Given the description of an element on the screen output the (x, y) to click on. 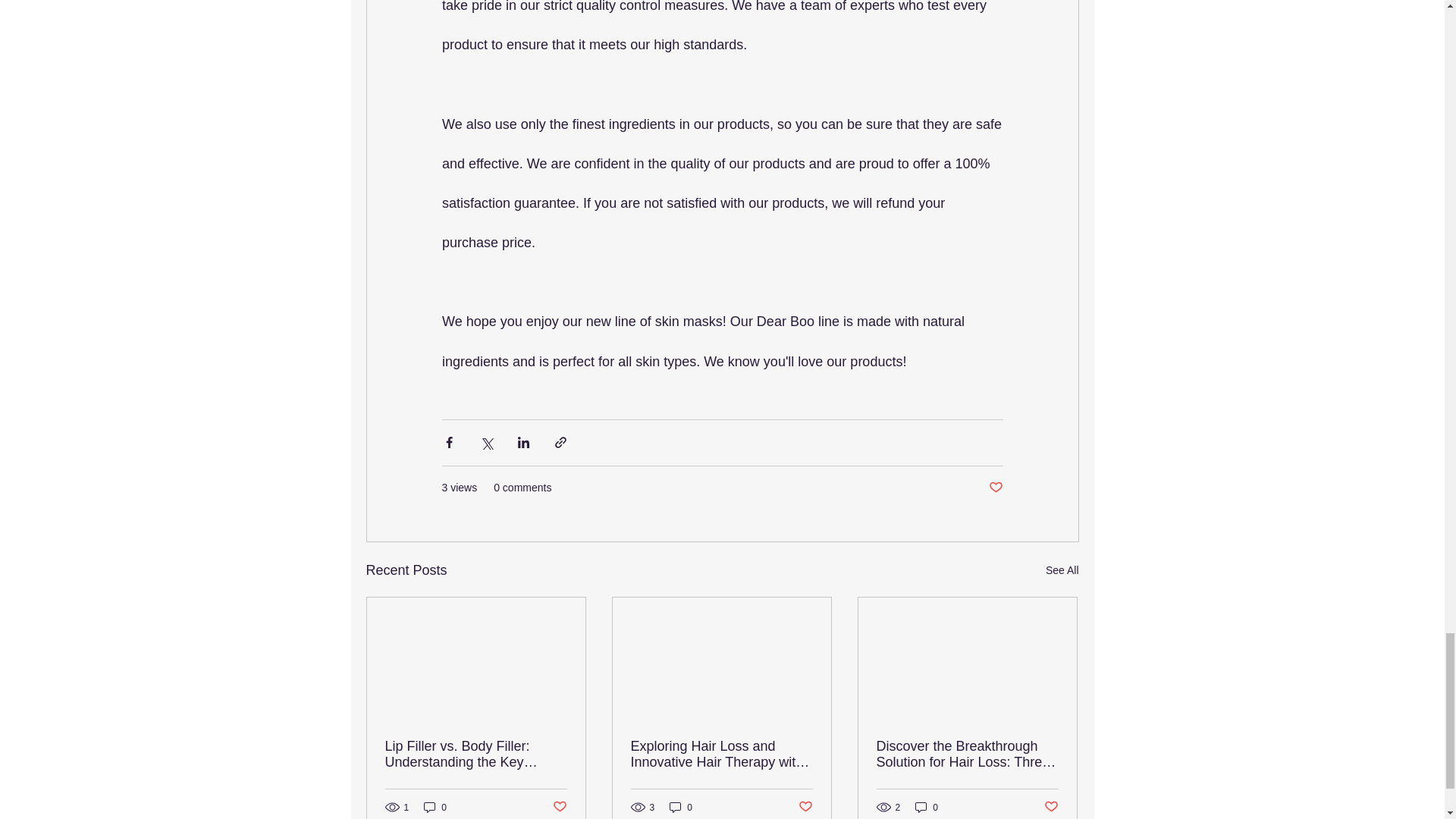
See All (1061, 570)
Post not marked as liked (995, 487)
0 (435, 807)
Post not marked as liked (558, 806)
